Given the description of an element on the screen output the (x, y) to click on. 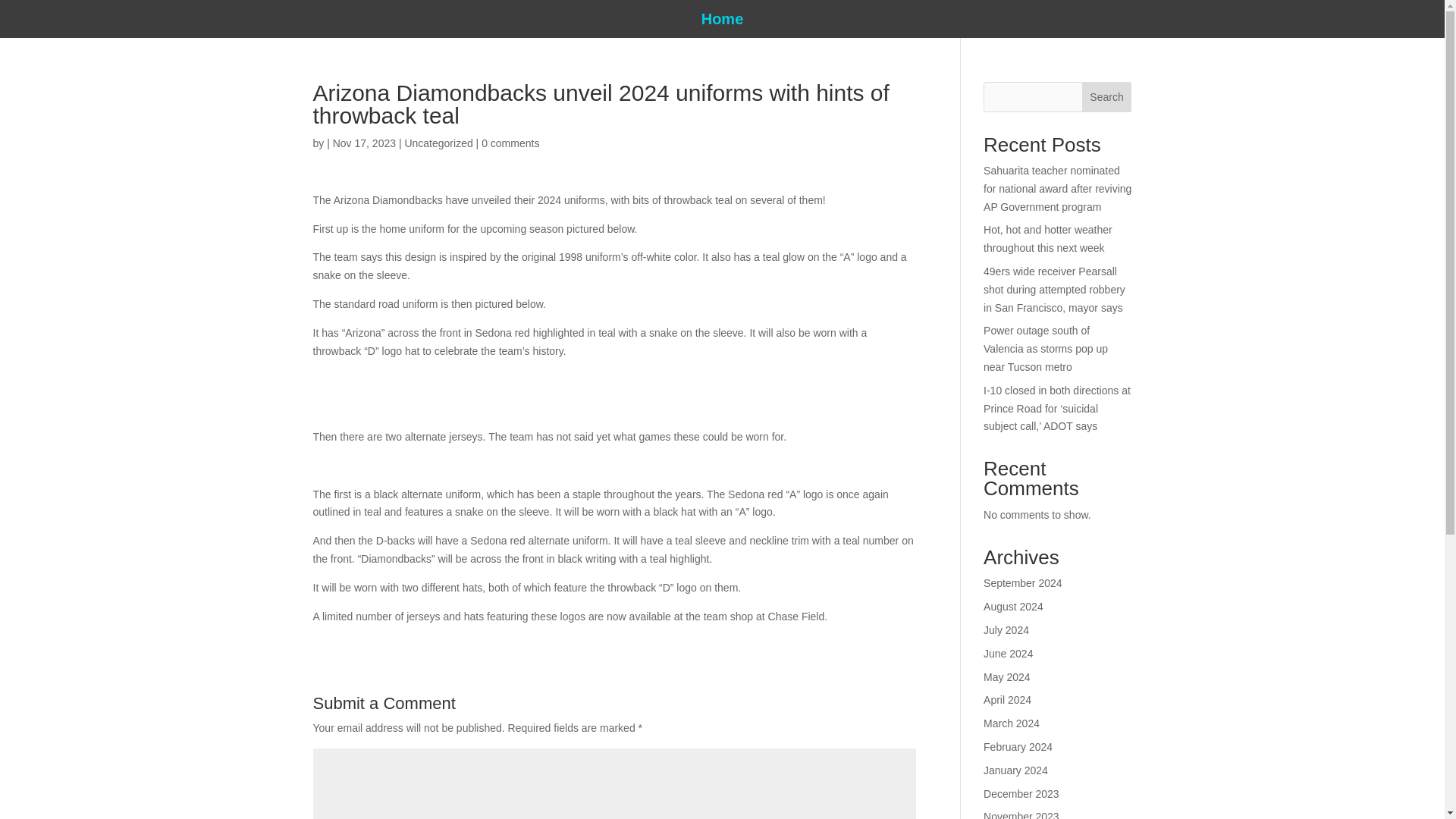
0 comments (509, 143)
February 2024 (1018, 746)
November 2023 (1021, 814)
May 2024 (1006, 676)
Search (1106, 96)
April 2024 (1007, 699)
January 2024 (1016, 770)
